Given the description of an element on the screen output the (x, y) to click on. 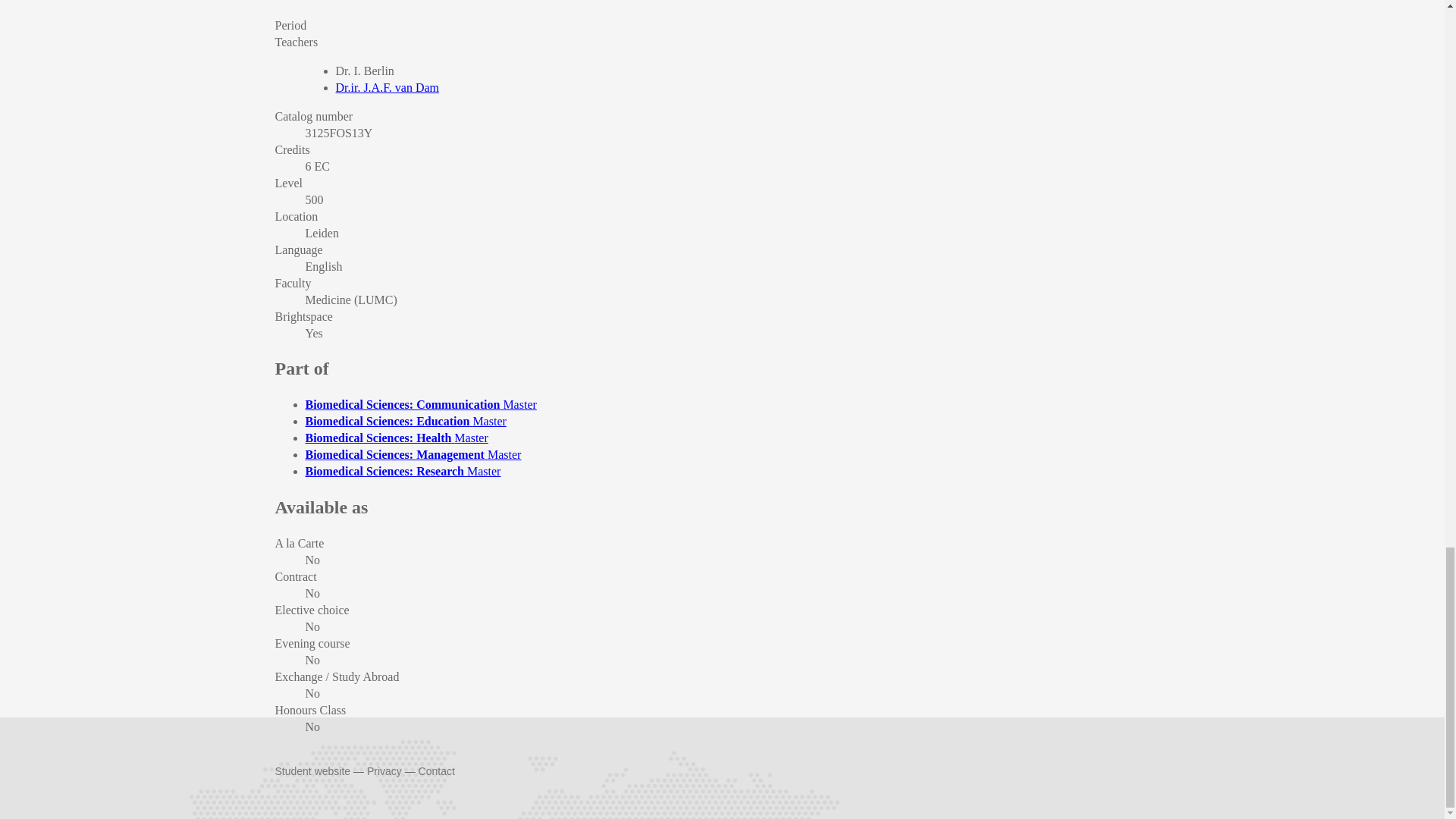
Biomedical Sciences: Research Master (402, 471)
Biomedical Sciences: Communication Master (419, 404)
Biomedical Sciences: Health Master (395, 437)
Biomedical Sciences: Management Master (412, 454)
Student website (312, 770)
Privacy (383, 770)
Biomedical Sciences: Education Master (404, 420)
Dr.ir. J.A.F. van Dam (386, 87)
Contact (436, 770)
